Given the description of an element on the screen output the (x, y) to click on. 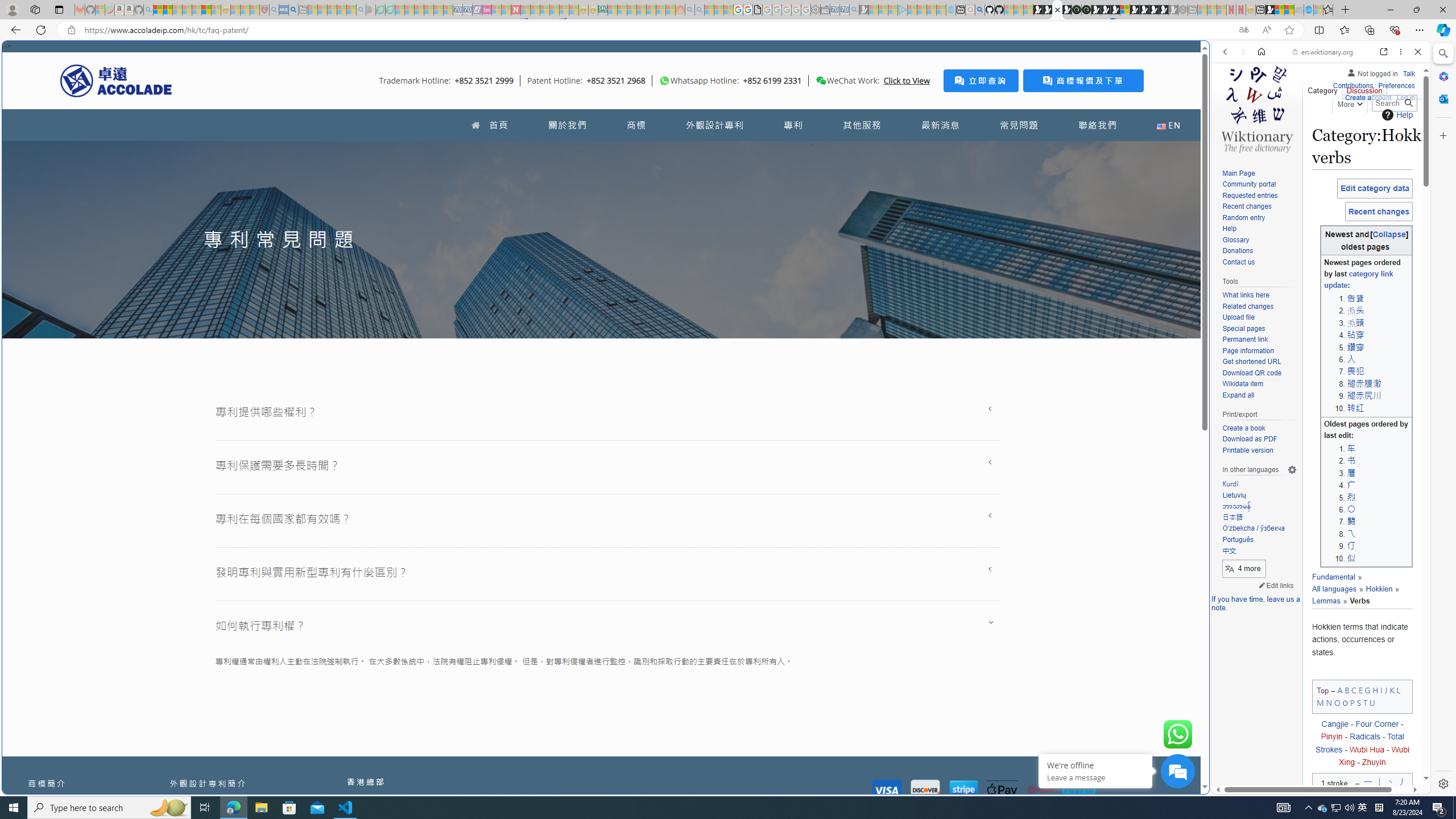
Verbs (1354, 601)
Services - Maintenance | Sky Blue Bikes - Sky Blue Bikes (1307, 9)
Wiktionary (1315, 380)
Random entry (1259, 218)
Visit the main page (1257, 108)
Edit category data (1374, 188)
